Given the description of an element on the screen output the (x, y) to click on. 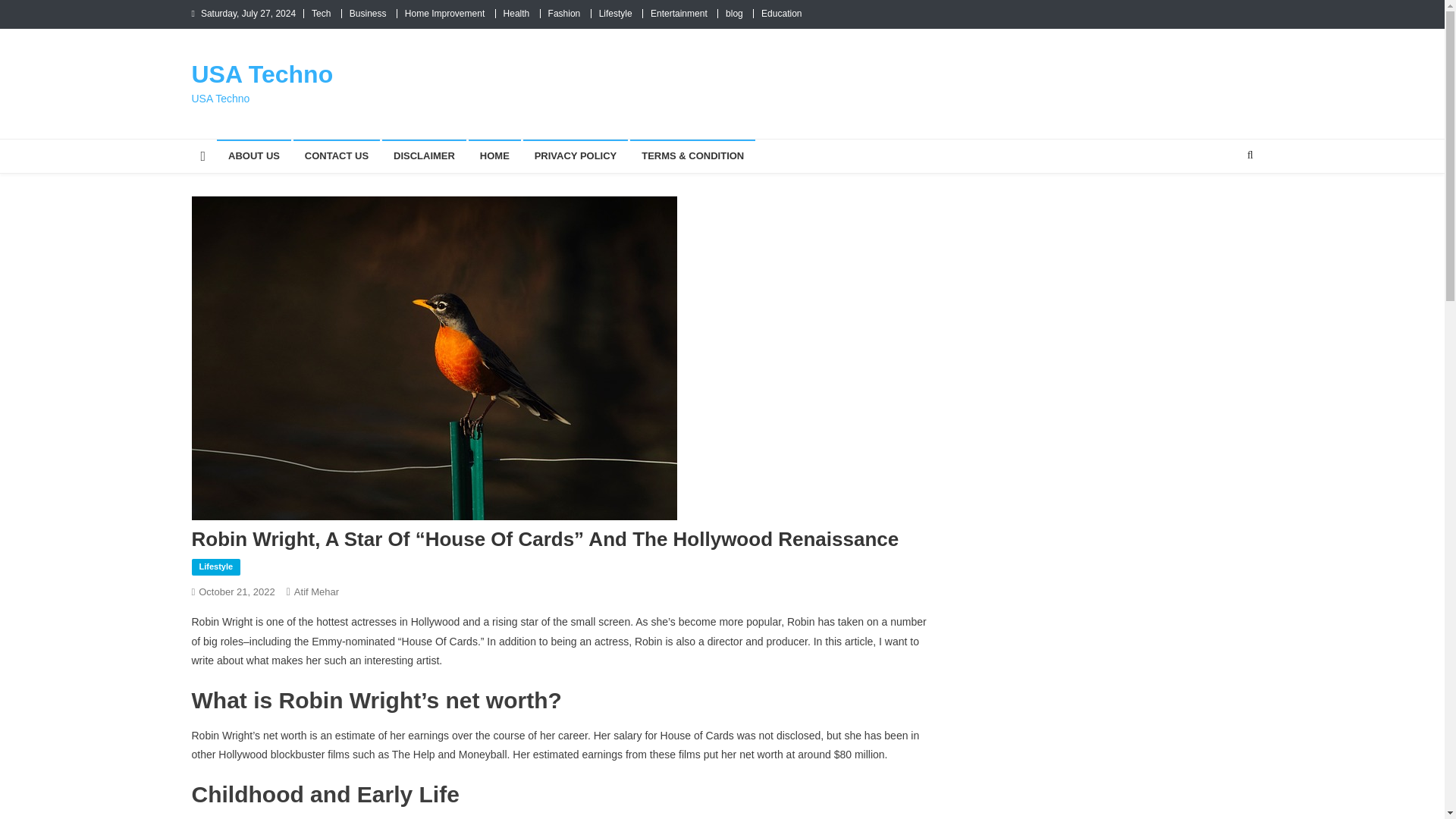
Home Improvement (444, 13)
Fashion (564, 13)
Entertainment (678, 13)
PRIVACY POLICY (575, 155)
blog (733, 13)
Lifestyle (215, 566)
October 21, 2022 (236, 591)
HOME (494, 155)
DISCLAIMER (423, 155)
Atif Mehar (316, 591)
Education (781, 13)
Health (516, 13)
Search (1221, 205)
Tech (320, 13)
